Given the description of an element on the screen output the (x, y) to click on. 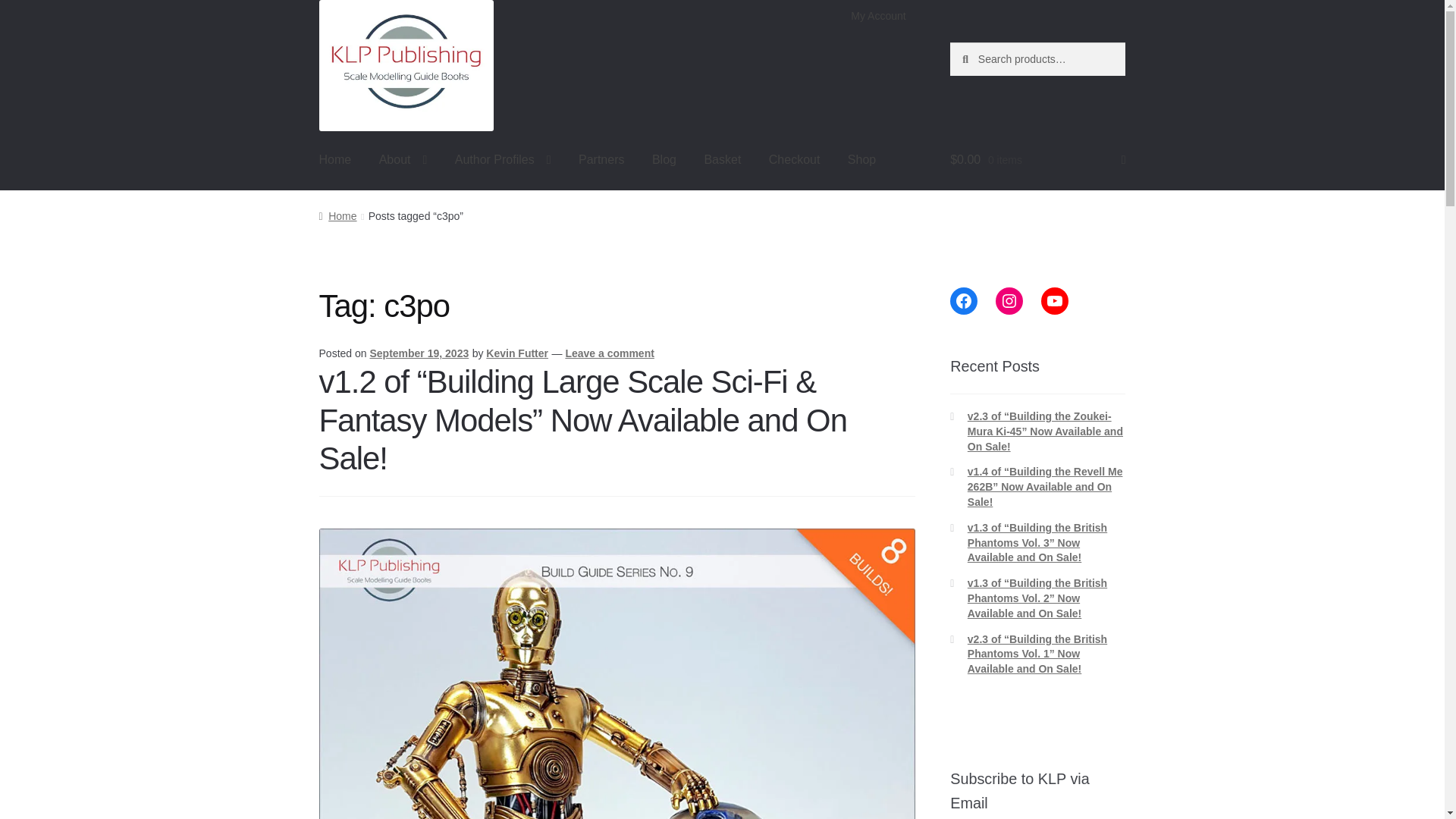
Partners (601, 159)
Basket (721, 159)
About (402, 159)
Checkout (794, 159)
View your shopping cart (1037, 159)
Author Profiles (502, 159)
My Account (878, 15)
Home (335, 159)
